Given the description of an element on the screen output the (x, y) to click on. 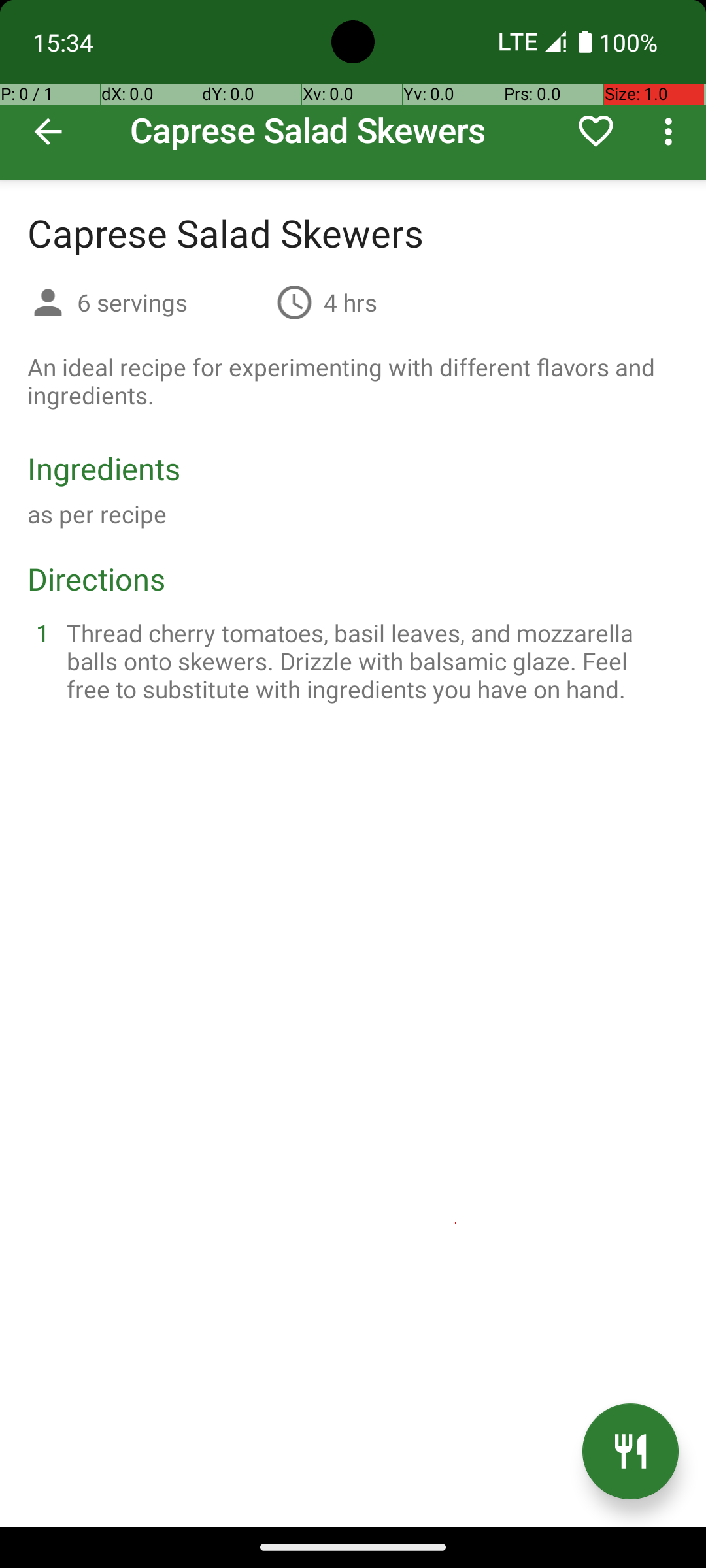
Thread cherry tomatoes, basil leaves, and mozzarella balls onto skewers. Drizzle with balsamic glaze. Feel free to substitute with ingredients you have on hand. Element type: android.widget.TextView (368, 660)
